Given the description of an element on the screen output the (x, y) to click on. 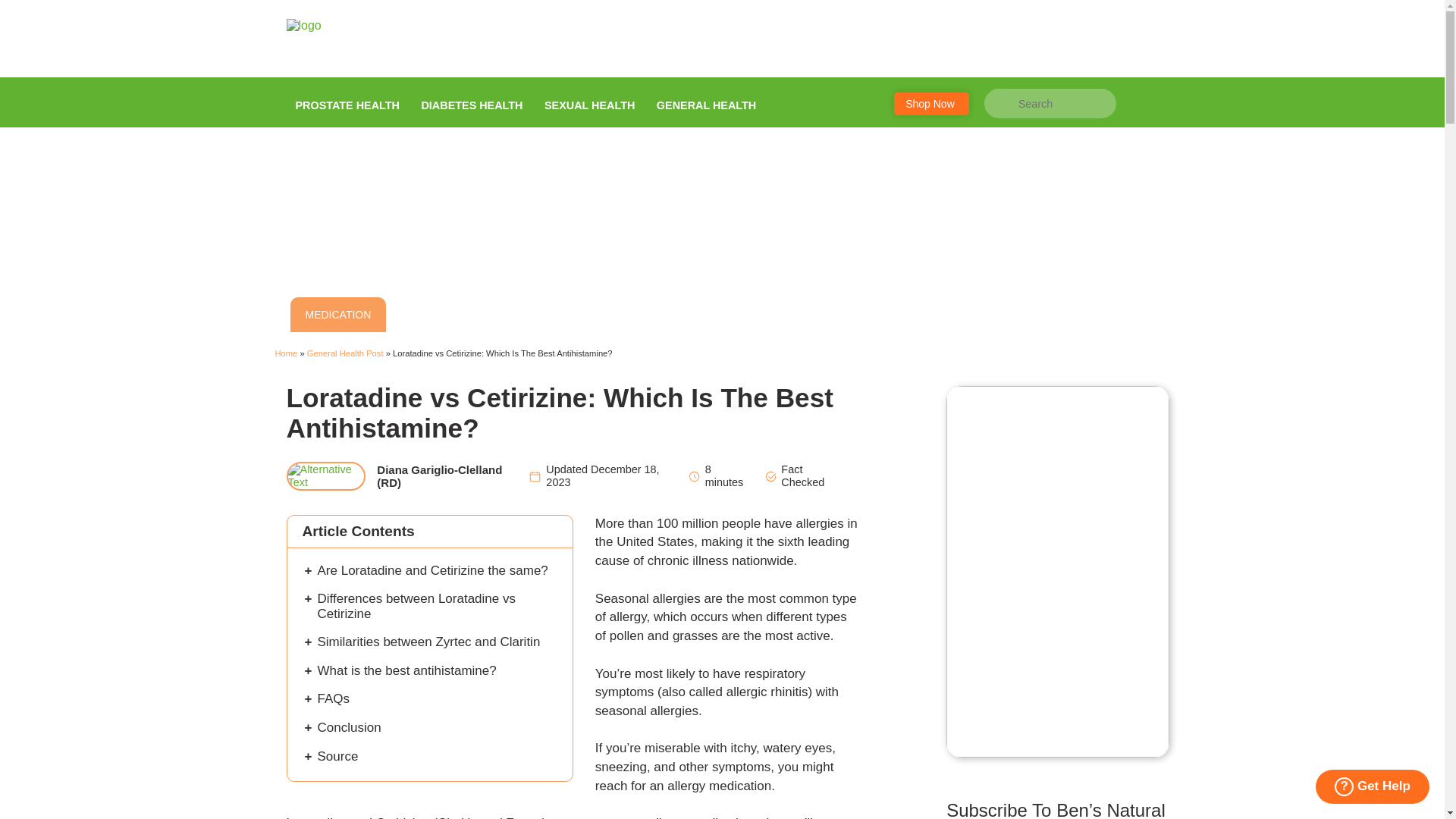
SEXUAL HEALTH (589, 101)
DIABETES HEALTH (471, 101)
General Health Post (345, 352)
Source (337, 756)
GENERAL HEALTH (706, 101)
My Cart (1118, 40)
What is the best antihistamine? (406, 670)
FAQs (333, 698)
Conclusion (348, 727)
Differences between Loratadine vs Cetirizine (416, 605)
